Given the description of an element on the screen output the (x, y) to click on. 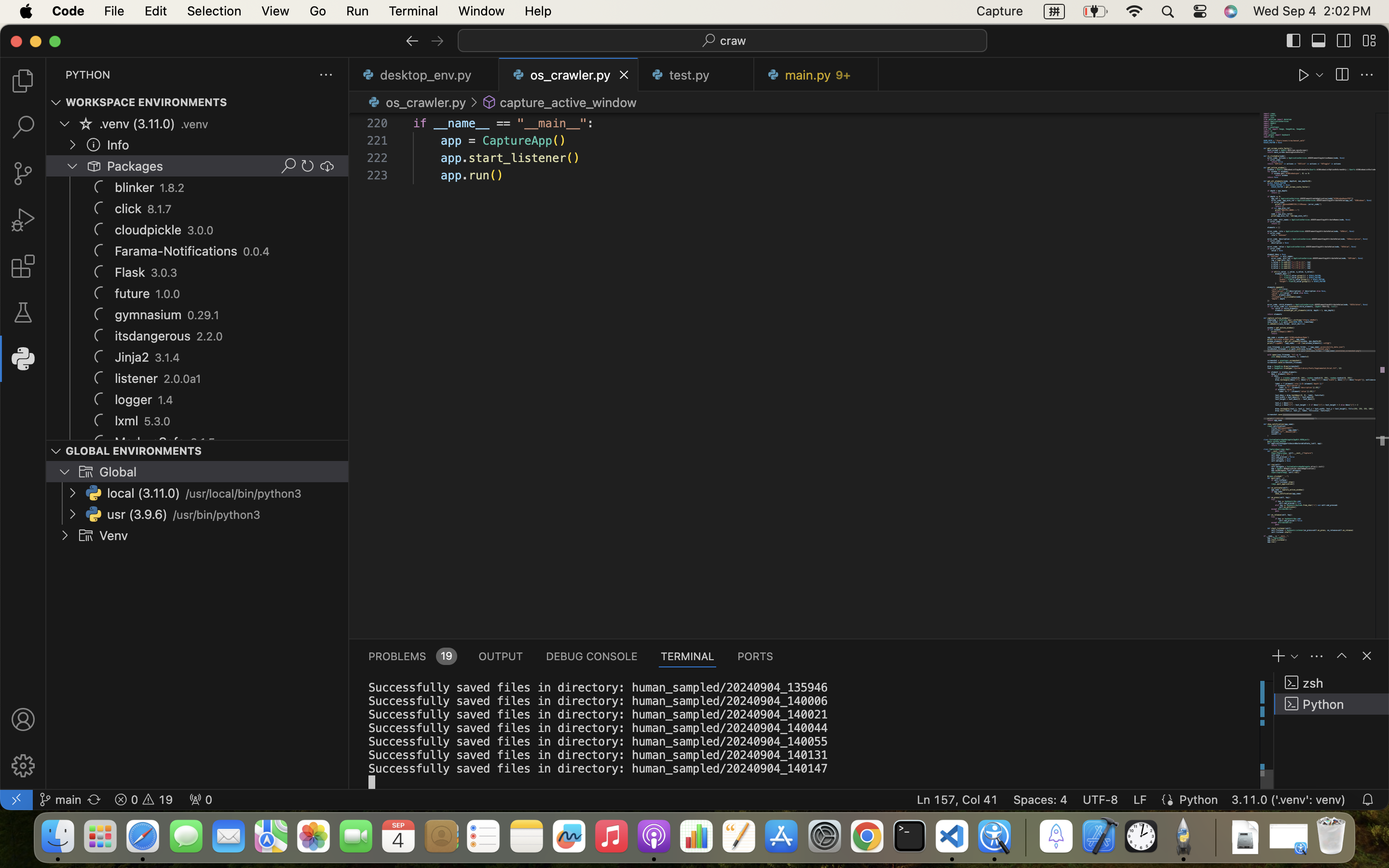
Farama-Notifications Element type: AXStaticText (176, 251)
 Element type: AXButton (1366, 655)
1 TERMINAL Element type: AXRadioButton (687, 655)
3.0.3 Element type: AXStaticText (163, 272)
GLOBAL ENVIRONMENTS Element type: AXStaticText (133, 450)
